Given the description of an element on the screen output the (x, y) to click on. 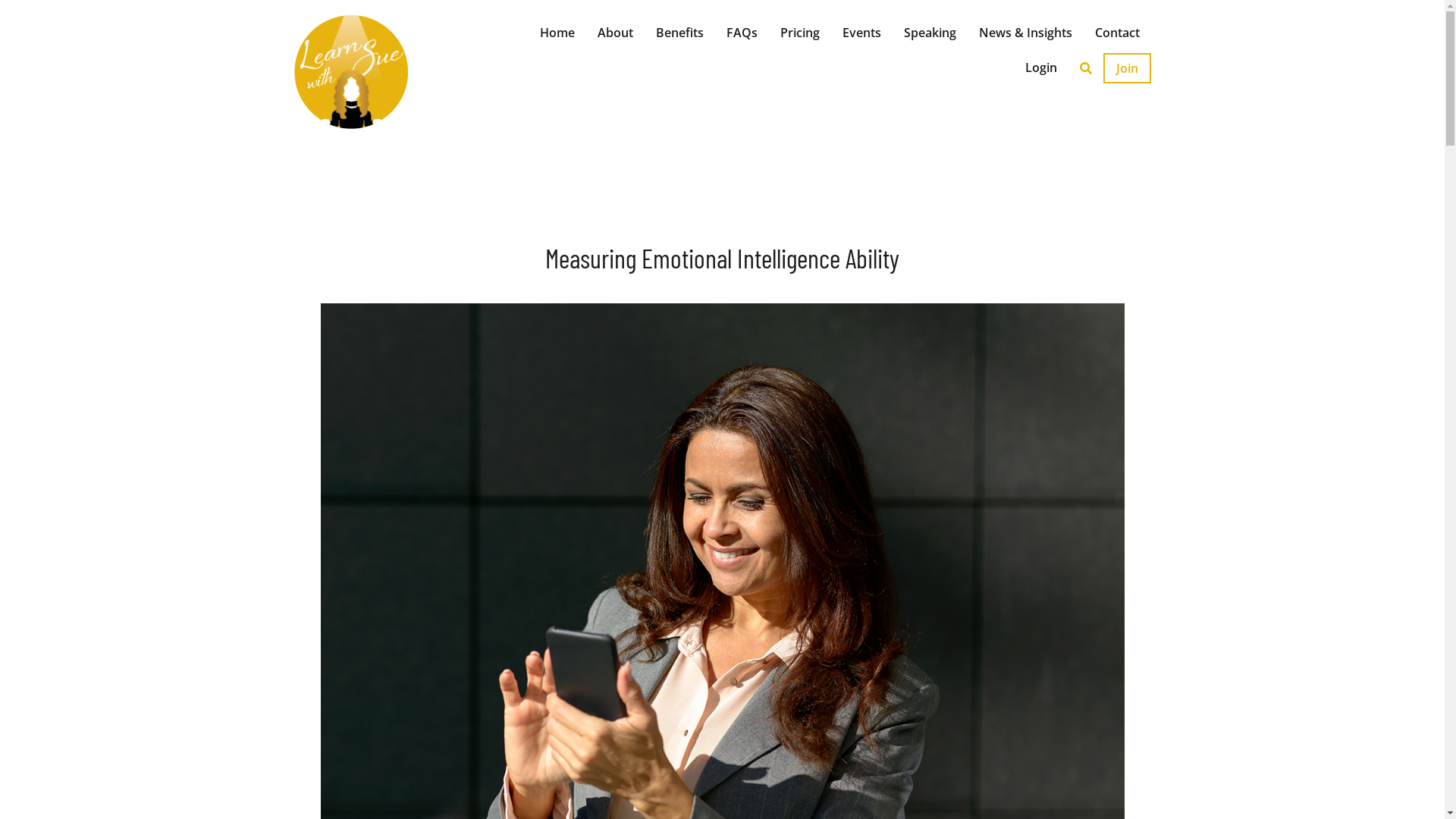
FAQs Element type: text (741, 32)
Benefits Element type: text (679, 32)
Join Element type: text (1126, 68)
About Element type: text (614, 32)
News & Insights Element type: text (1025, 32)
Login Element type: text (1040, 67)
Events Element type: text (861, 32)
Pricing Element type: text (799, 32)
Contact Element type: text (1116, 32)
Home Element type: text (556, 32)
Speaking Element type: text (928, 32)
